Given the description of an element on the screen output the (x, y) to click on. 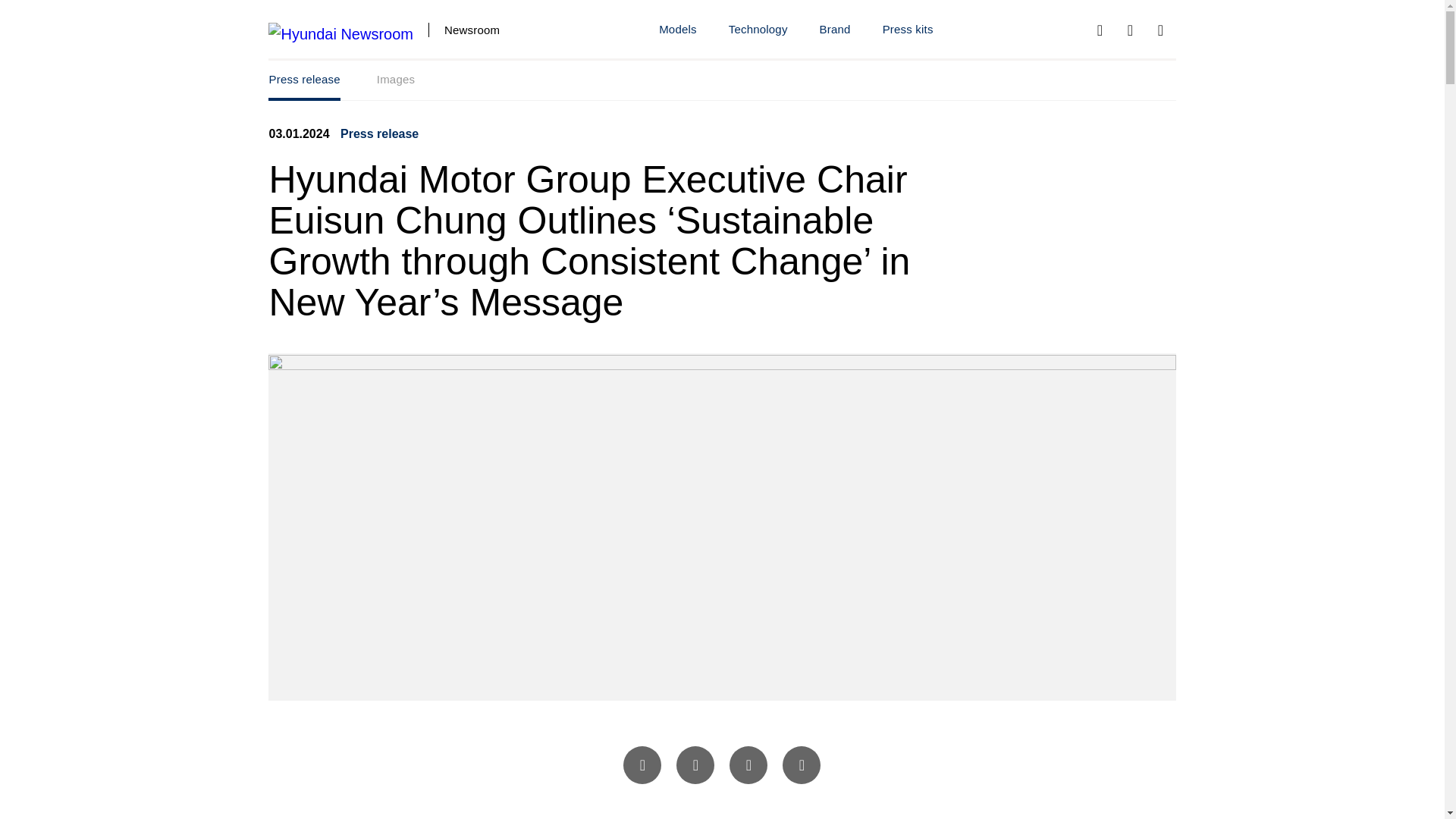
Technology (720, 80)
